Given the description of an element on the screen output the (x, y) to click on. 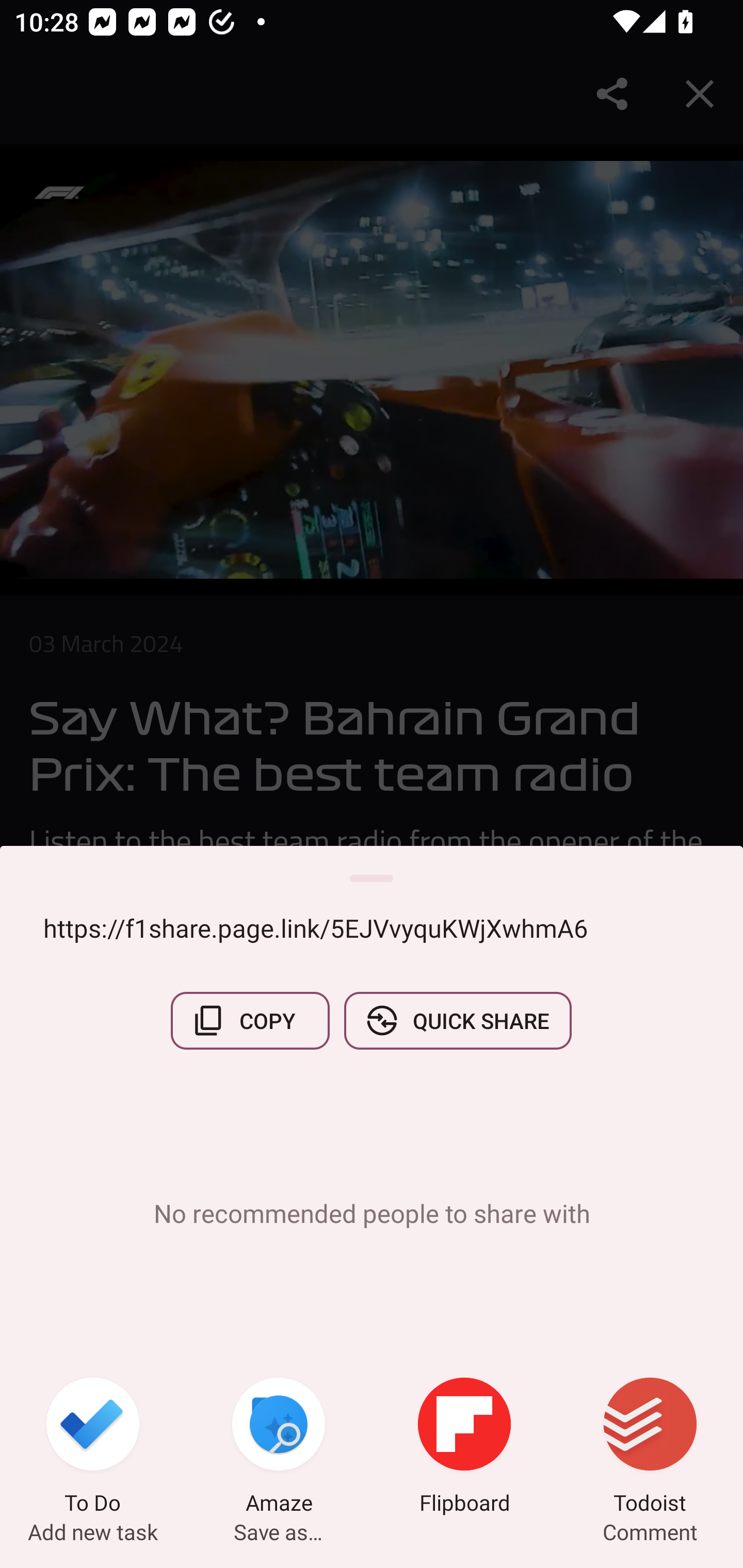
COPY (249, 1020)
QUICK SHARE (457, 1020)
To Do Add new task (92, 1448)
Amaze Save as… (278, 1448)
Flipboard (464, 1448)
Todoist Comment (650, 1448)
